Given the description of an element on the screen output the (x, y) to click on. 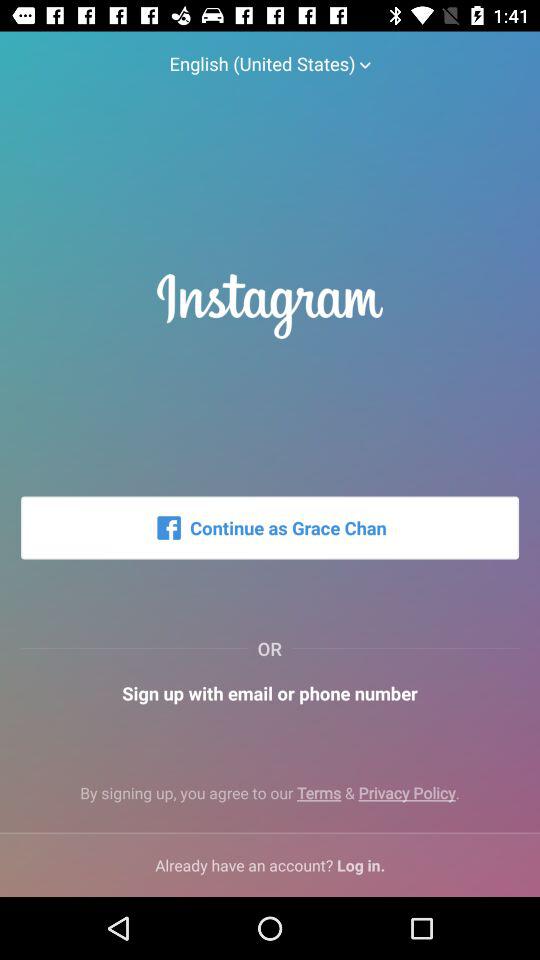
flip to sign up with item (270, 692)
